Given the description of an element on the screen output the (x, y) to click on. 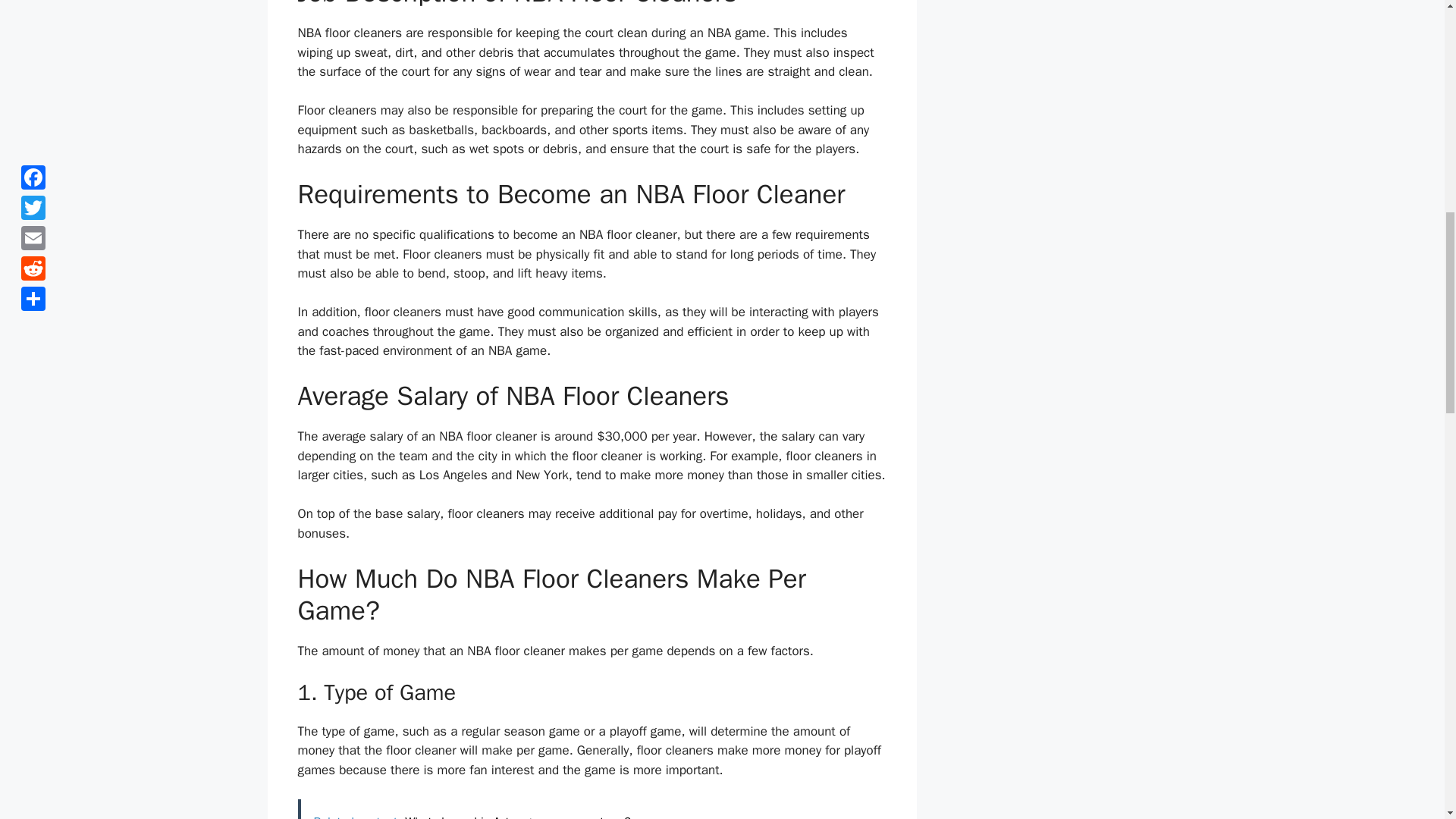
Related content  What channel is Aztec game on spectrum? (591, 809)
Scroll back to top (1406, 720)
